Given the description of an element on the screen output the (x, y) to click on. 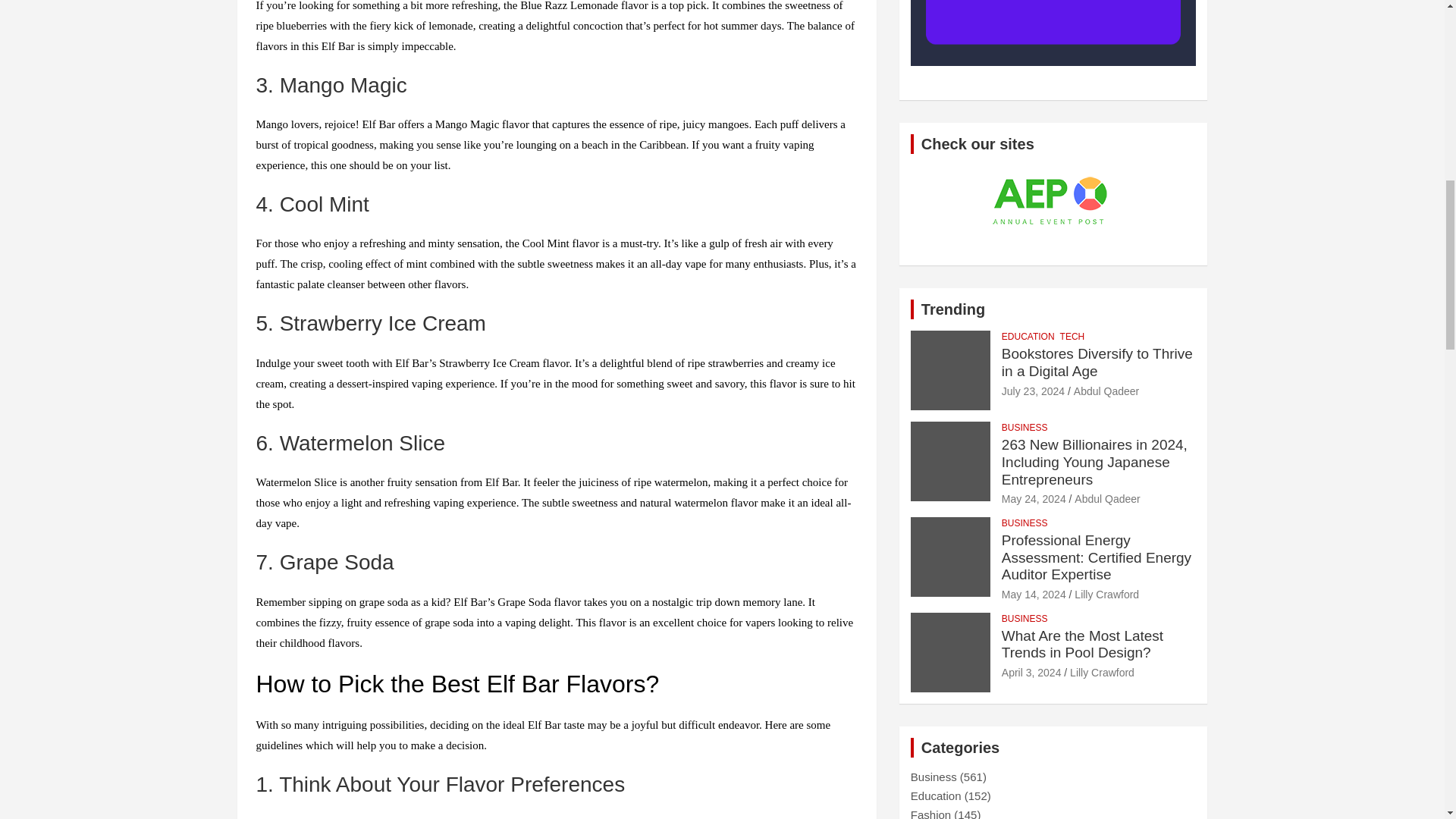
What Are the Most Latest Trends in Pool Design? (1031, 672)
Bookstores Diversify to Thrive in a Digital Age (1032, 390)
